Given the description of an element on the screen output the (x, y) to click on. 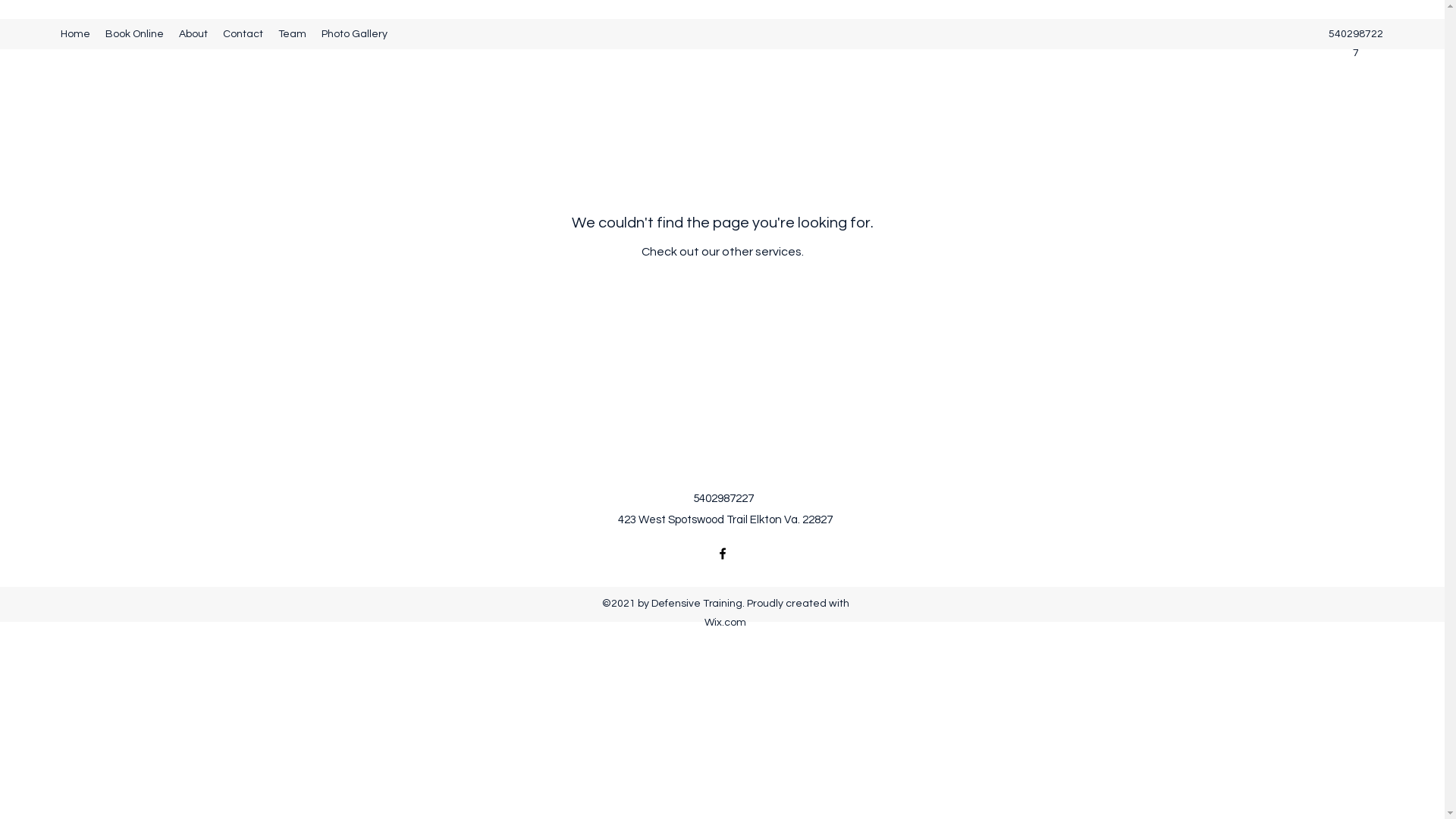
Home Element type: text (75, 33)
Contact Element type: text (242, 33)
Photo Gallery Element type: text (354, 33)
Team Element type: text (291, 33)
Book Online Element type: text (134, 33)
About Element type: text (193, 33)
